Given the description of an element on the screen output the (x, y) to click on. 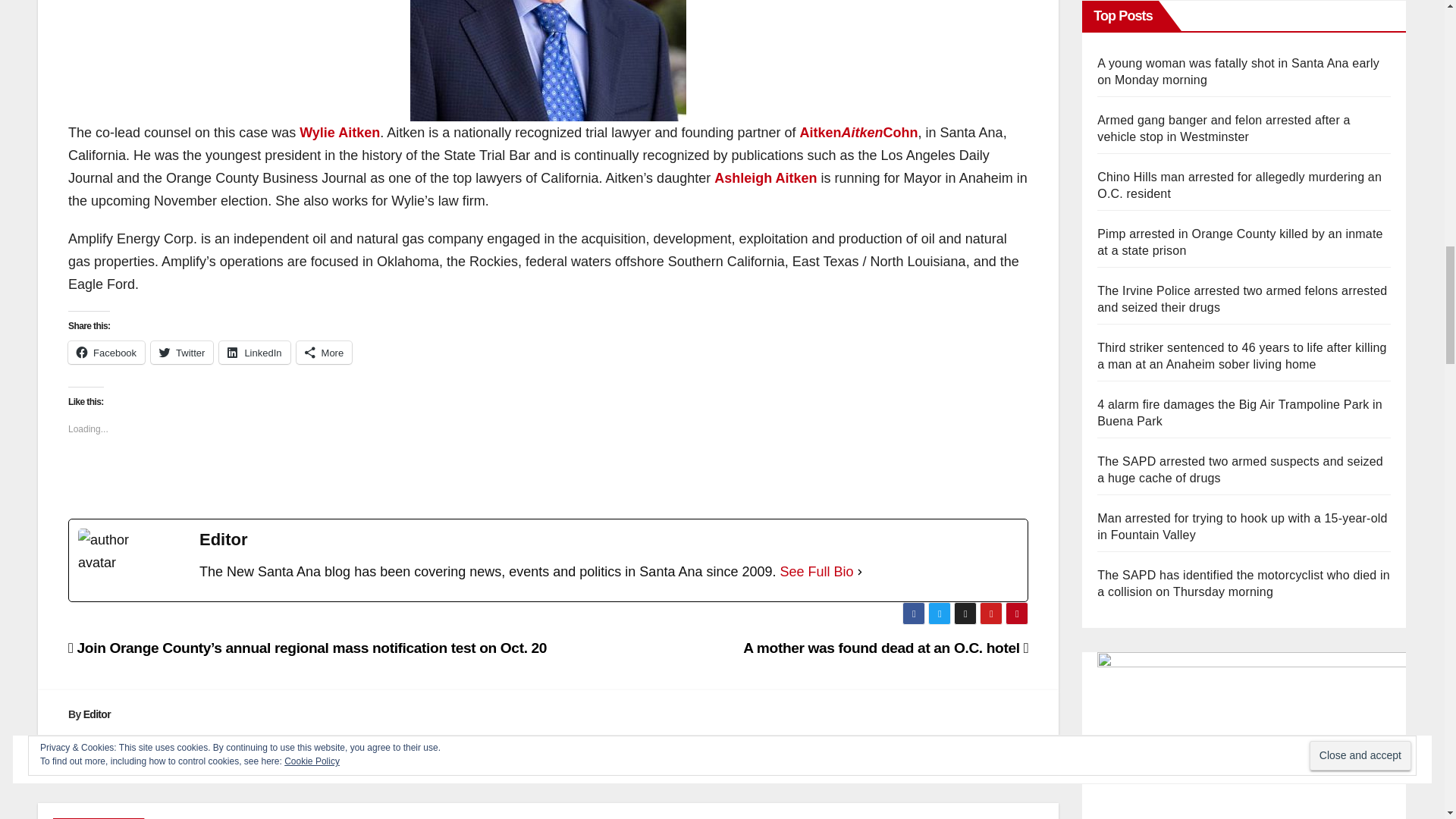
LinkedIn (254, 352)
Twitter (181, 352)
Click to share on LinkedIn (254, 352)
AitkenAitkenCohn (858, 132)
Ashleigh Aitken (765, 177)
Click to share on Facebook (106, 352)
Wylie-Aitken - New Santa Ana (547, 60)
Facebook (106, 352)
Click to share on Twitter (181, 352)
Wylie Aitken (339, 132)
More (324, 352)
